Given the description of an element on the screen output the (x, y) to click on. 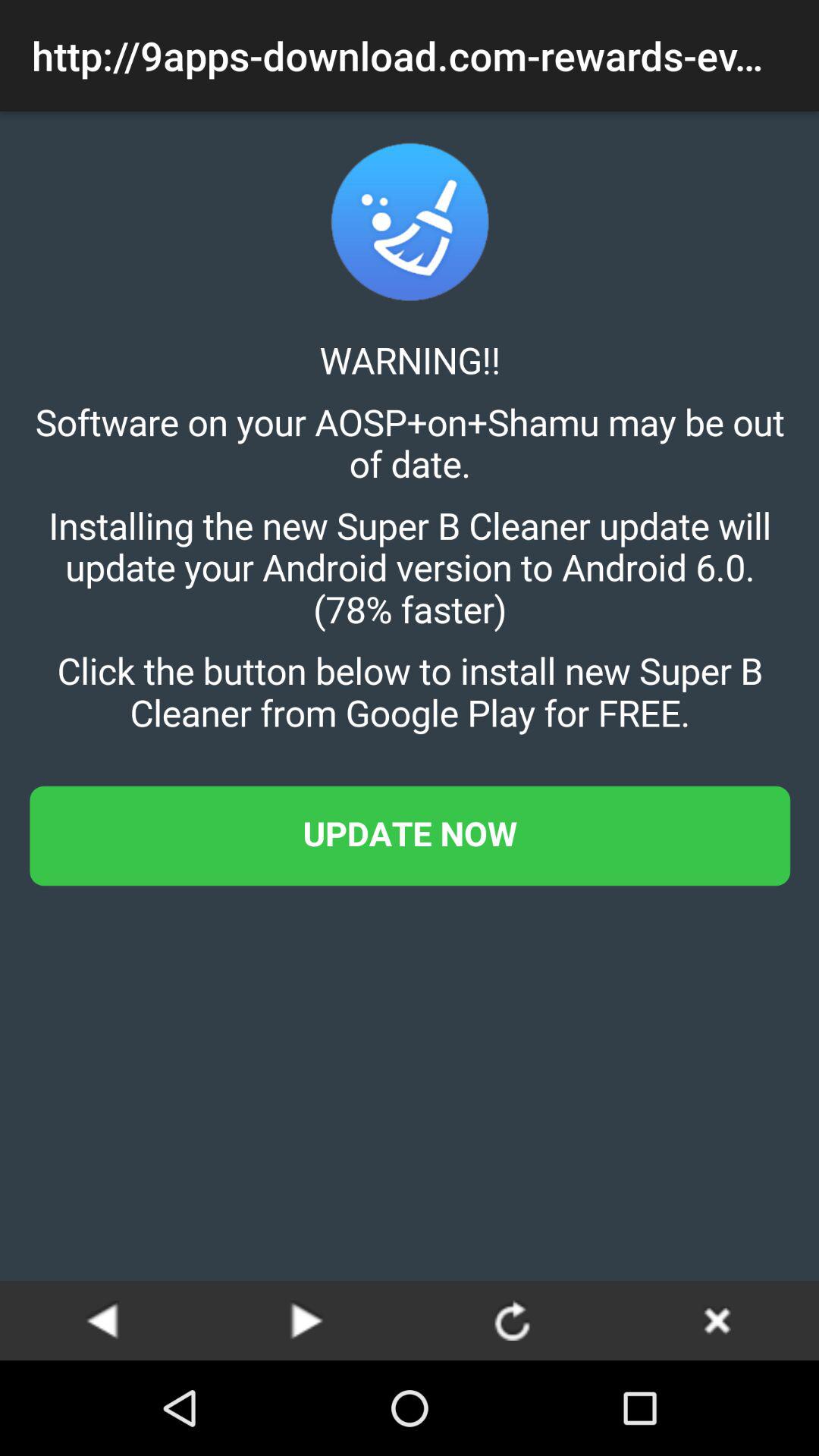
go to play (306, 1320)
